Given the description of an element on the screen output the (x, y) to click on. 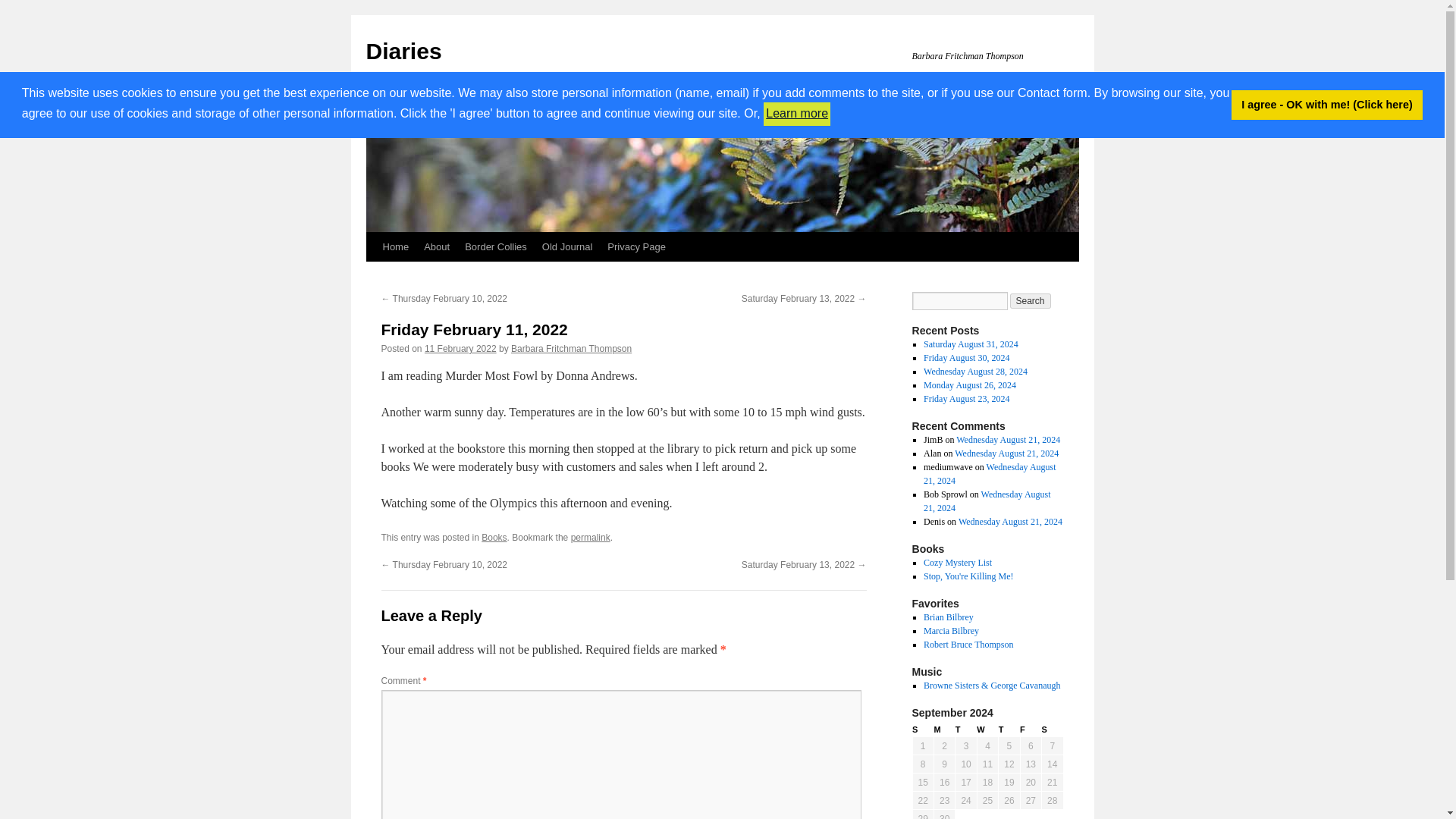
Friday August 30, 2024 (966, 357)
Monday (944, 729)
Learn more (795, 113)
Saturday (1052, 729)
Wednesday August 28, 2024 (975, 371)
Saturday August 31, 2024 (970, 344)
Privacy Page (635, 246)
Brian Bilbrey (948, 616)
5:47 PM (460, 348)
Search (1030, 300)
